Given the description of an element on the screen output the (x, y) to click on. 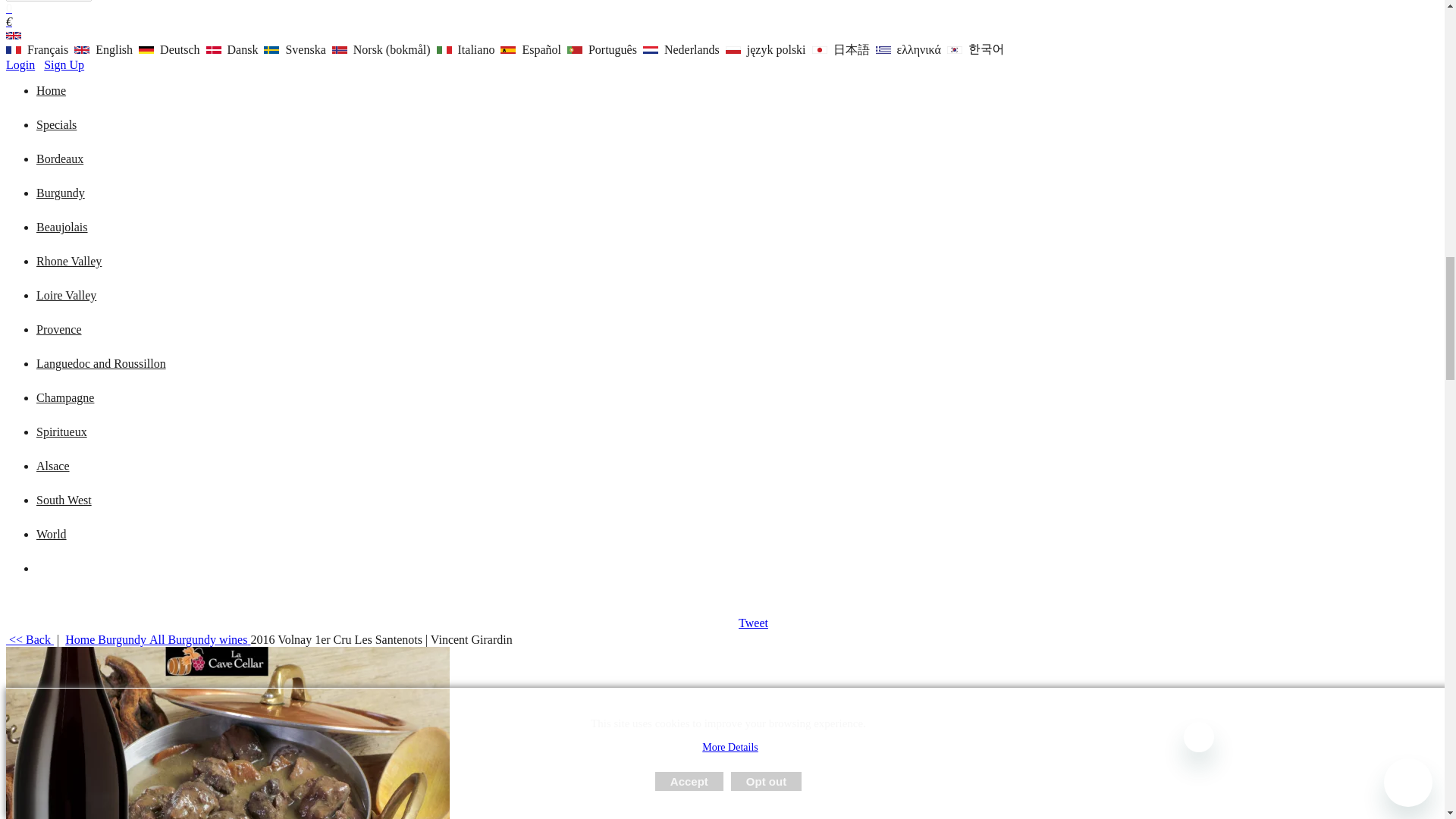
 Dansk  (234, 49)
English (81, 49)
Sign Up (63, 64)
Specials (56, 124)
 Svenska  (296, 49)
 English  (104, 49)
Home (50, 90)
Svenska (271, 49)
 Nederlands  (682, 49)
Dansk (213, 49)
Bordeaux (59, 158)
English (13, 35)
Deutsch (146, 49)
 Deutsch  (170, 49)
Login (19, 64)
